Given the description of an element on the screen output the (x, y) to click on. 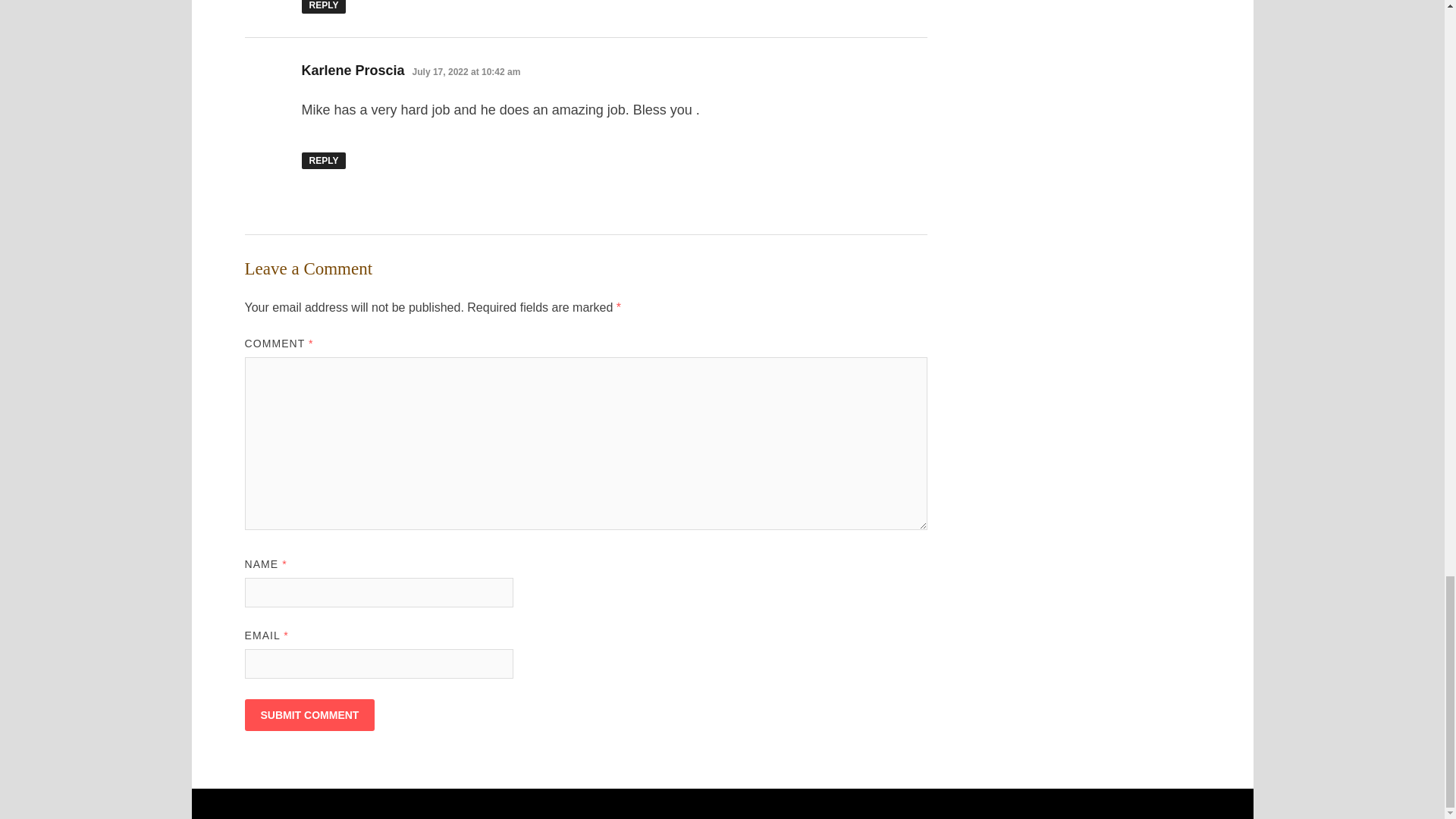
REPLY (323, 160)
REPLY (323, 6)
Submit Comment (309, 715)
Submit Comment (309, 715)
July 17, 2022 at 10:42 am (466, 71)
